Given the description of an element on the screen output the (x, y) to click on. 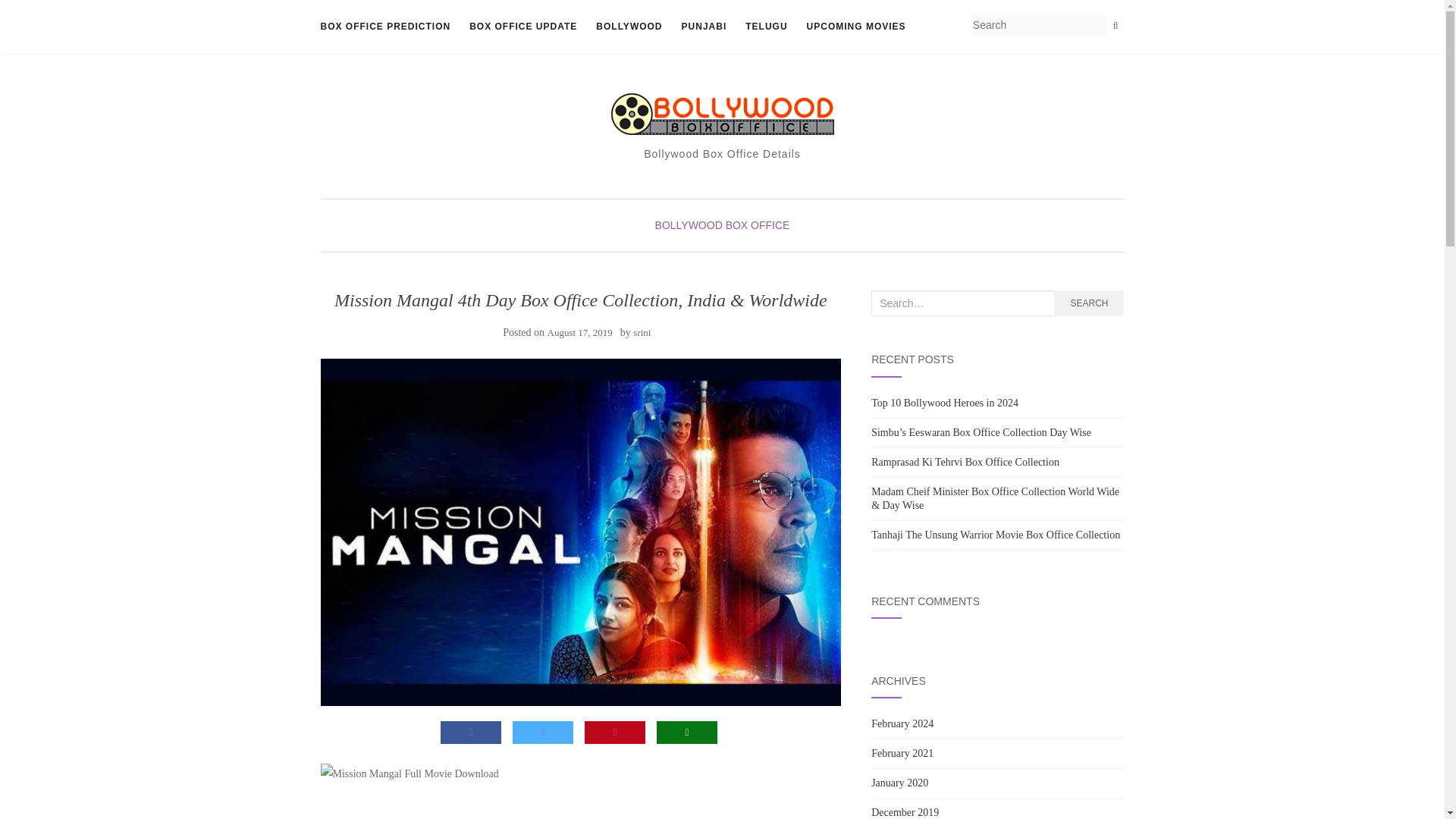
Upcoming Movies (855, 27)
Box Office Update (522, 27)
February 2024 (901, 723)
SEARCH (1089, 303)
UPCOMING MOVIES (855, 27)
Bollywood (628, 27)
August 17, 2019 (579, 332)
BOX OFFICE PREDICTION (384, 27)
February 2021 (901, 753)
BOX OFFICE UPDATE (522, 27)
